Given the description of an element on the screen output the (x, y) to click on. 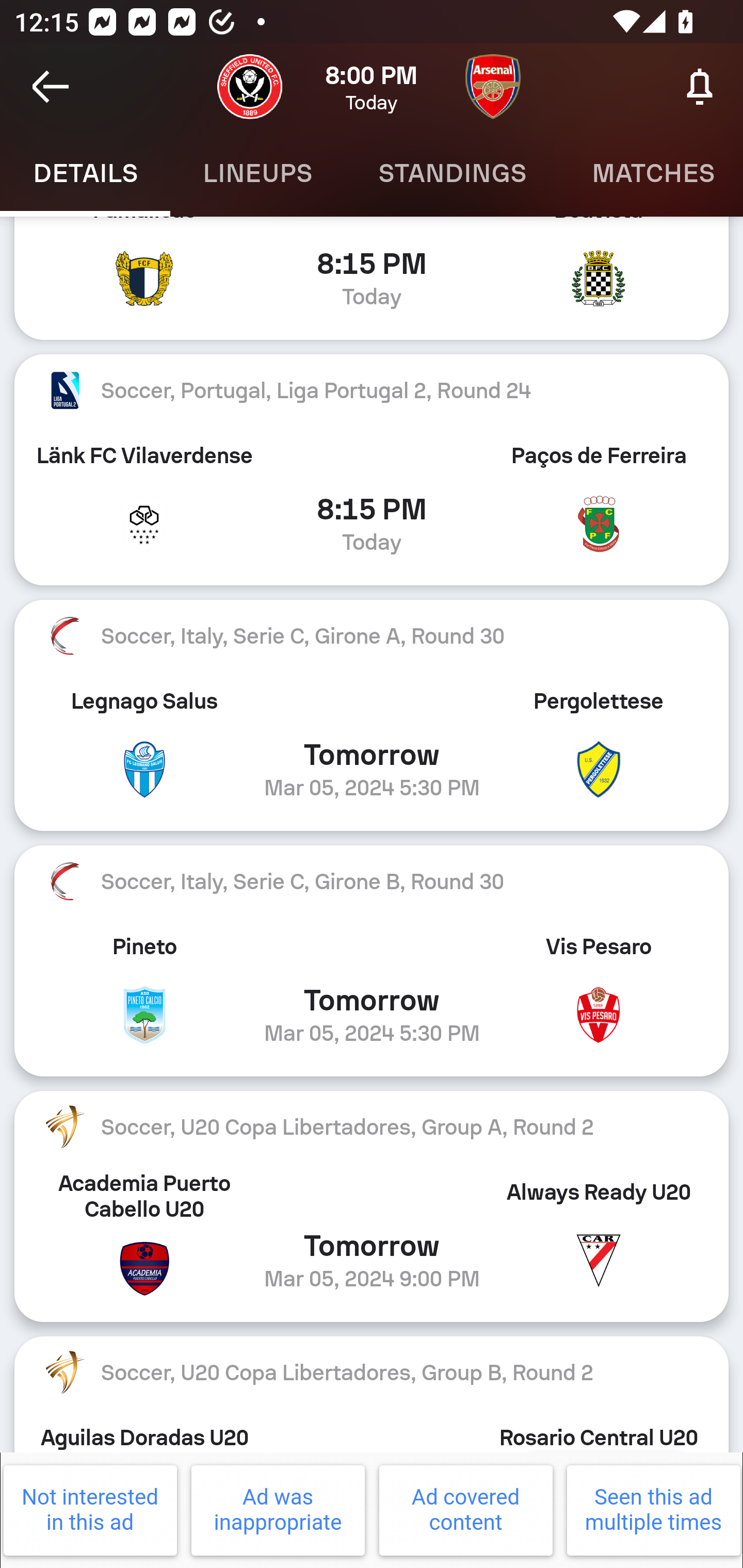
Navigate up (50, 86)
Lineups LINEUPS (257, 173)
Standings STANDINGS (451, 173)
Matches MATCHES (650, 173)
Soccer, Portugal, Liga Portugal 2, Round 24 (371, 390)
Soccer, Italy, Serie C, Girone A, Round 30 (371, 636)
Soccer, Italy, Serie C, Girone B, Round 30 (371, 881)
Soccer, U20 Copa Libertadores, Group A, Round 2 (371, 1127)
Soccer, U20 Copa Libertadores, Group B, Round 2 (371, 1371)
